Given the description of an element on the screen output the (x, y) to click on. 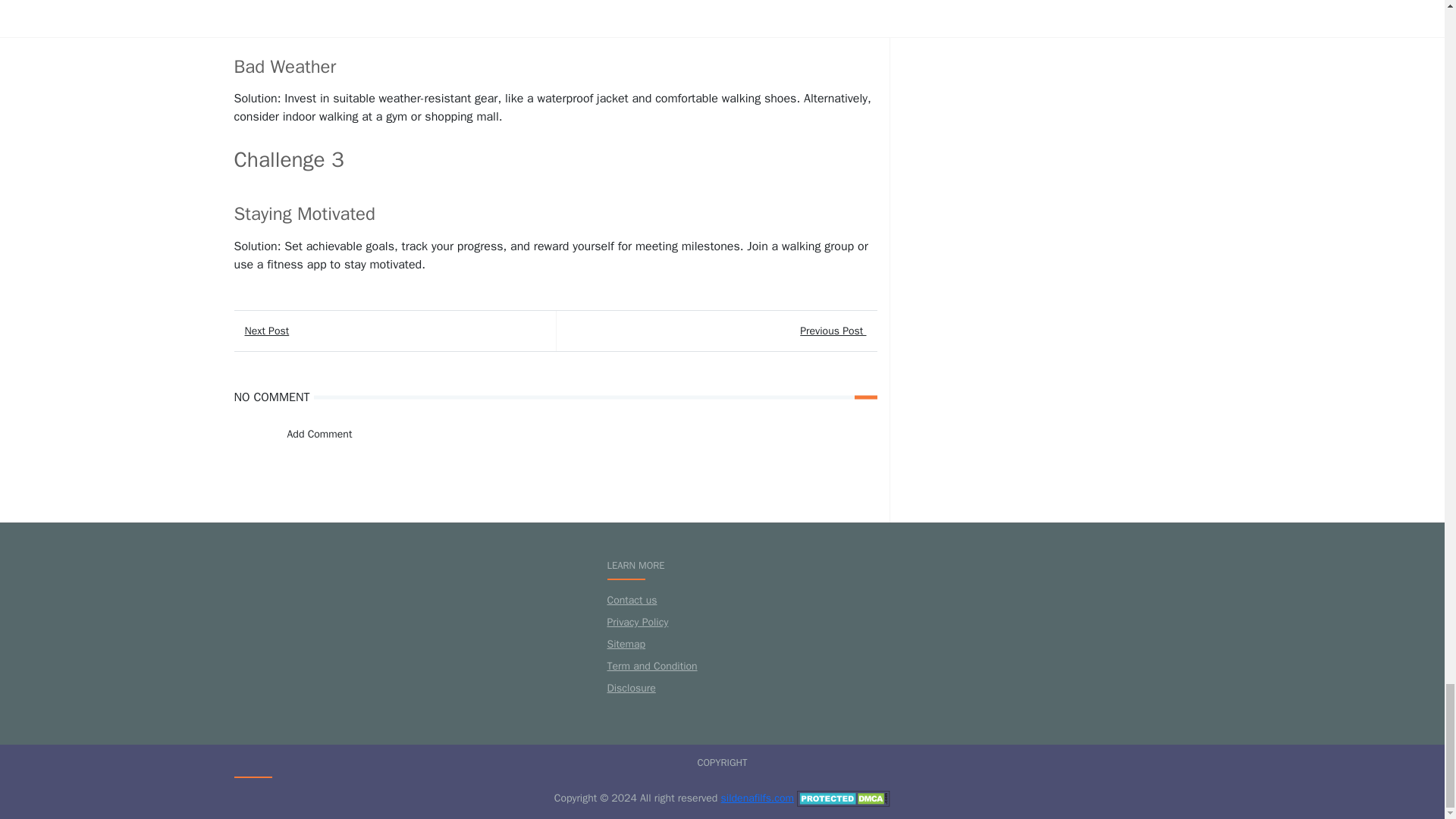
Privacy Policy (637, 621)
Disclosure (631, 687)
Next Post (393, 331)
Previous Post (715, 331)
Contact us (631, 599)
sildenafilfs.com (756, 797)
Add Comment (311, 433)
DMCA.com Protection Status (842, 797)
Term and Condition (652, 666)
Sitemap (626, 644)
